Given the description of an element on the screen output the (x, y) to click on. 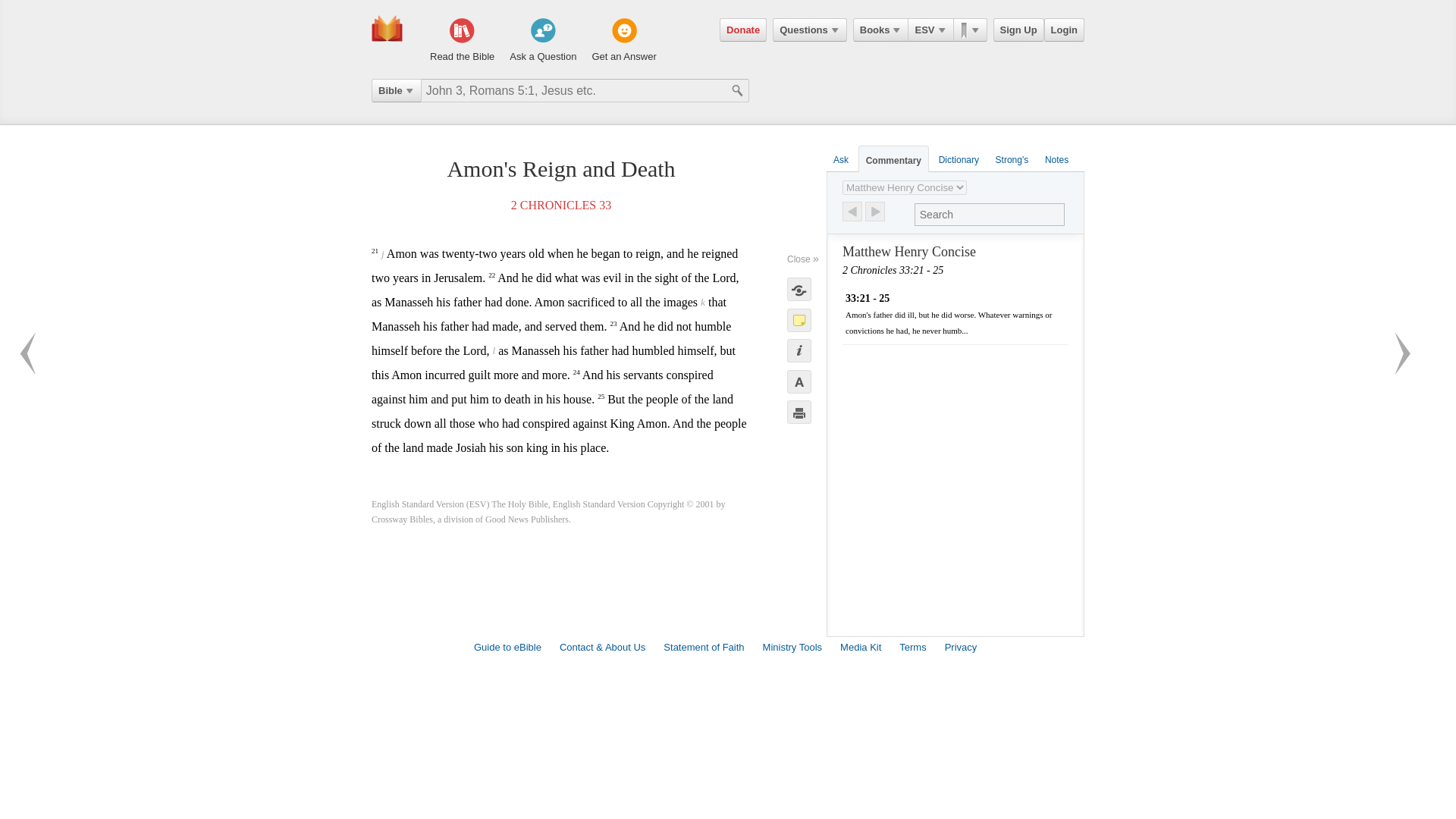
Books (880, 29)
Donate (743, 29)
Ask a Question (542, 41)
Get an Answer (623, 41)
Questions (810, 29)
Read the Bible (462, 41)
